Given the description of an element on the screen output the (x, y) to click on. 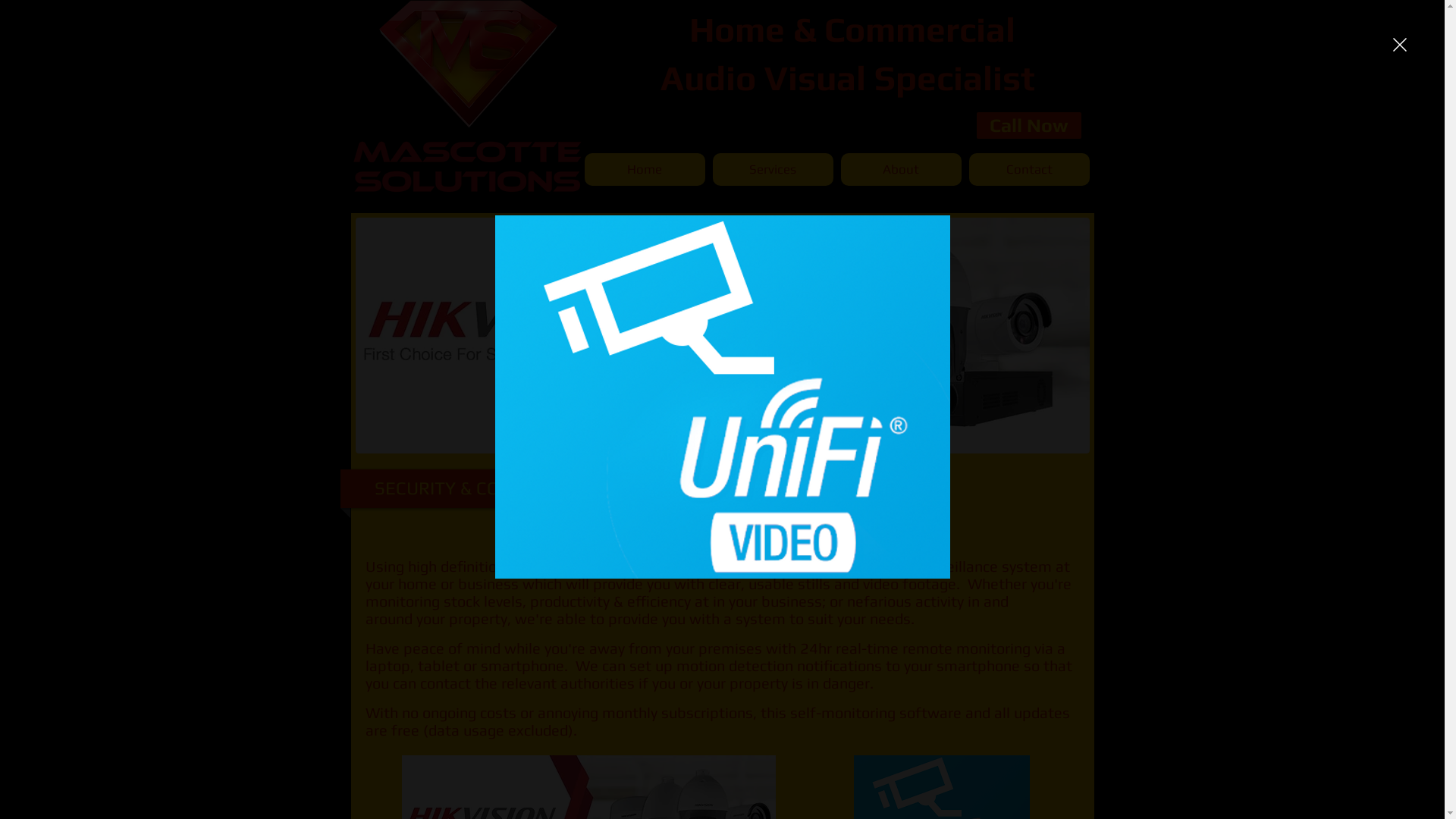
Mascotte Solutions Logo Element type: hover (465, 97)
Contact Element type: text (1029, 169)
Home Element type: text (643, 169)
Call Now Element type: text (1028, 125)
